Given the description of an element on the screen output the (x, y) to click on. 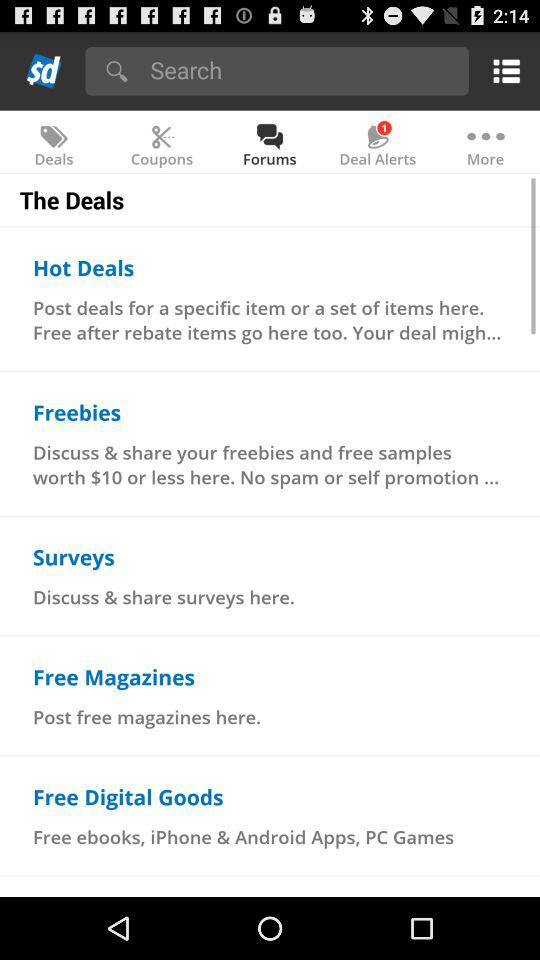
flip until the hot deals item (83, 267)
